Given the description of an element on the screen output the (x, y) to click on. 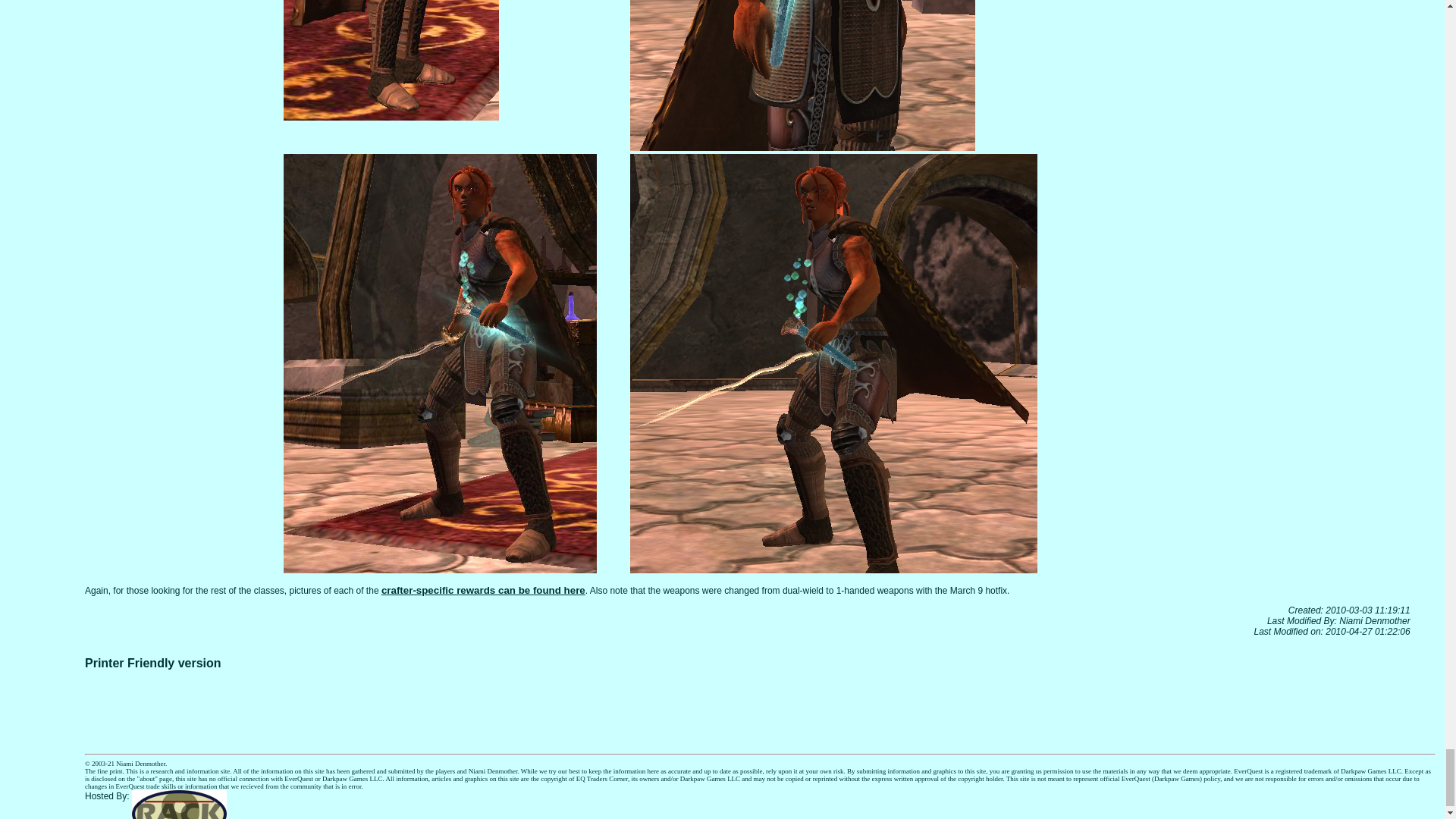
crafter-specific rewards can be found here (483, 590)
Printer Friendly version (152, 662)
